Given the description of an element on the screen output the (x, y) to click on. 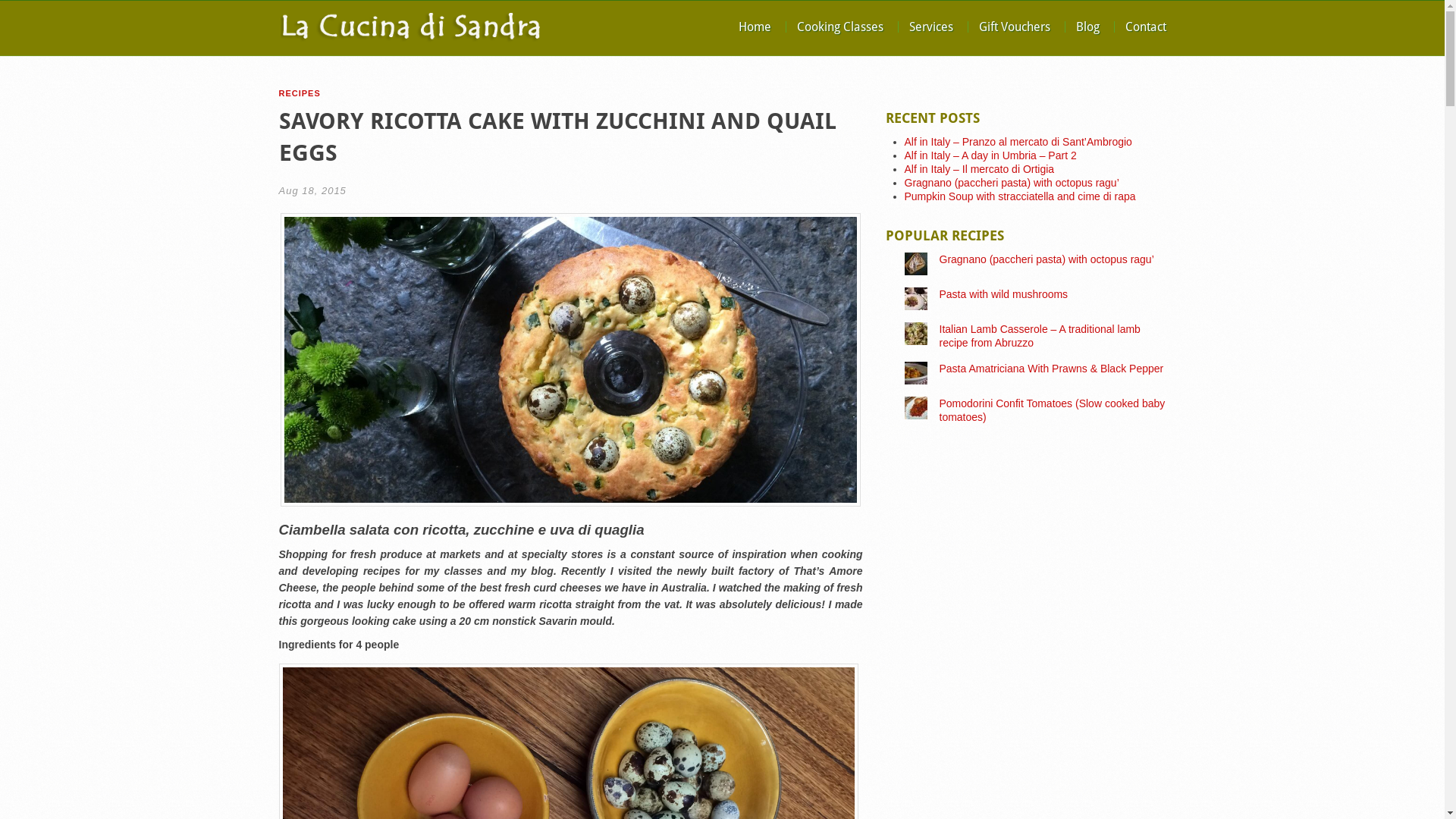
Pumpkin Soup with stracciatella and cime di rapa Element type: text (1019, 196)
Gift Vouchers Element type: text (1014, 26)
Contact Element type: text (1145, 26)
Pomodorini Confit Tomatoes (Slow cooked baby tomatoes) Element type: text (1051, 410)
Services Element type: text (931, 26)
RECIPES Element type: text (299, 92)
Blog Element type: text (1087, 26)
Home Element type: text (754, 26)
Pasta with wild mushrooms Element type: text (1002, 294)
Pasta Amatriciana With Prawns & Black Pepper Element type: text (1050, 368)
Cooking Classes Element type: text (840, 26)
